Given the description of an element on the screen output the (x, y) to click on. 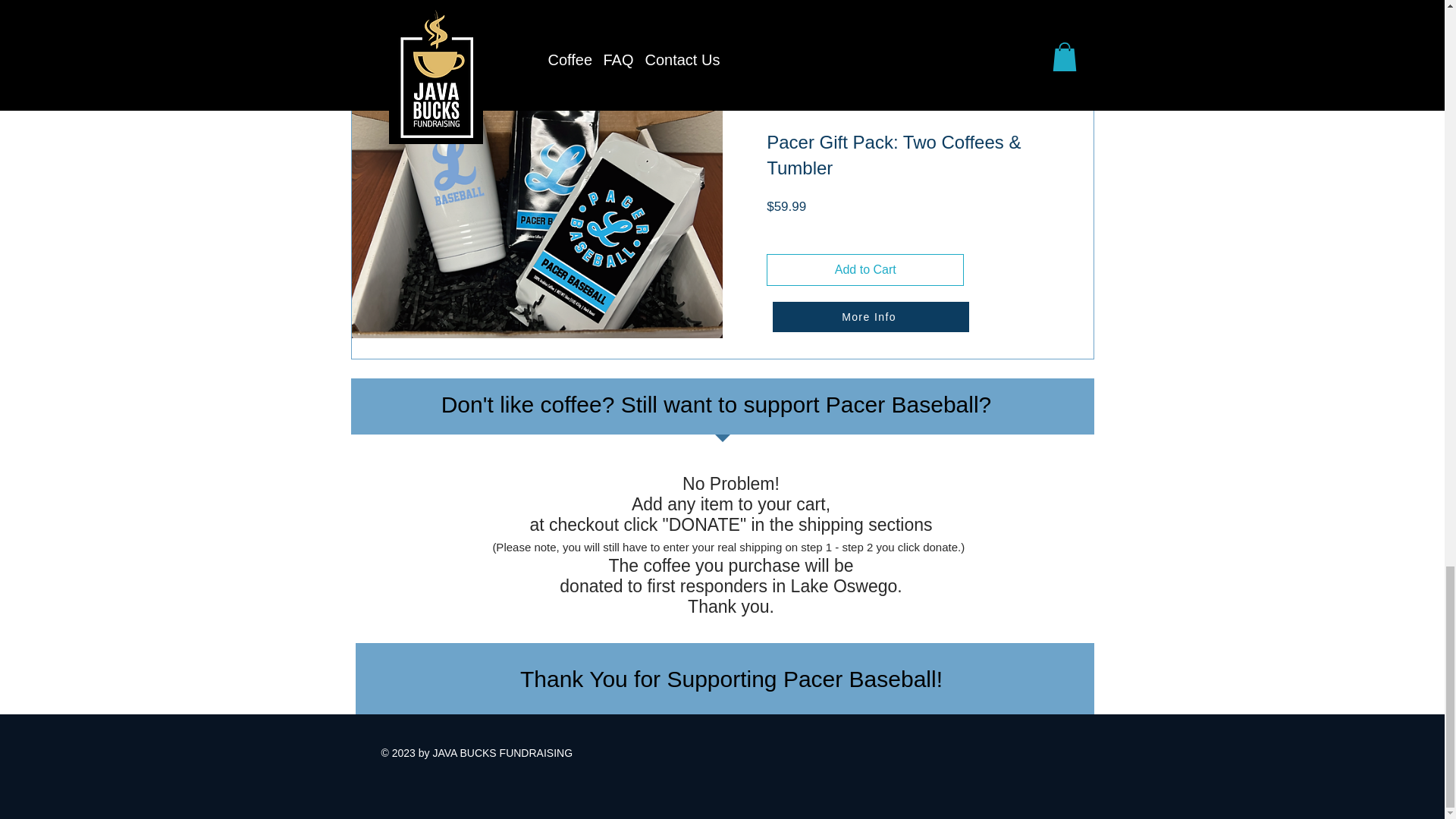
Button (874, 280)
More Info (869, 317)
Add to Cart (865, 269)
